Given the description of an element on the screen output the (x, y) to click on. 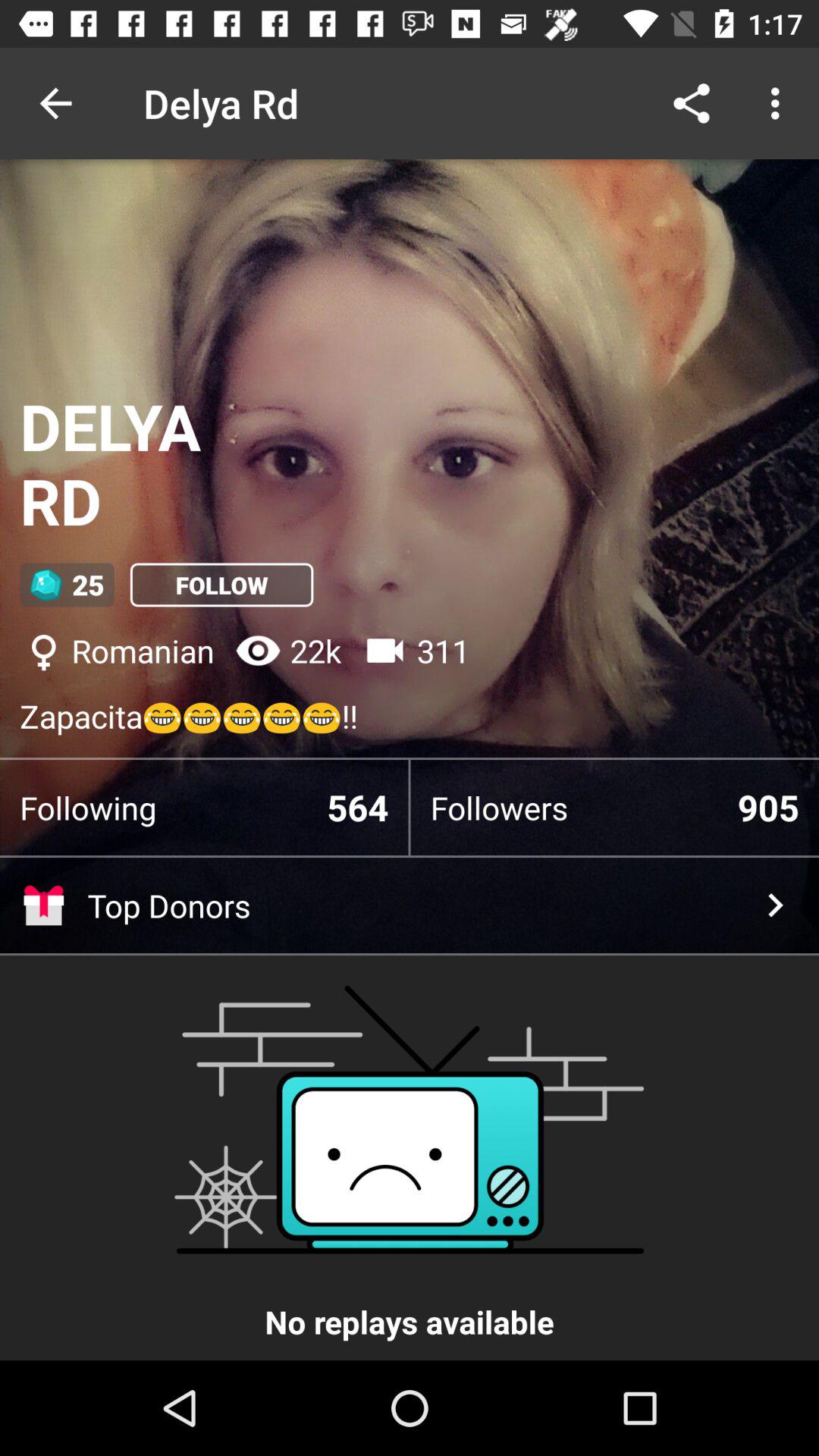
turn on the icon to the right of 25 item (221, 584)
